Given the description of an element on the screen output the (x, y) to click on. 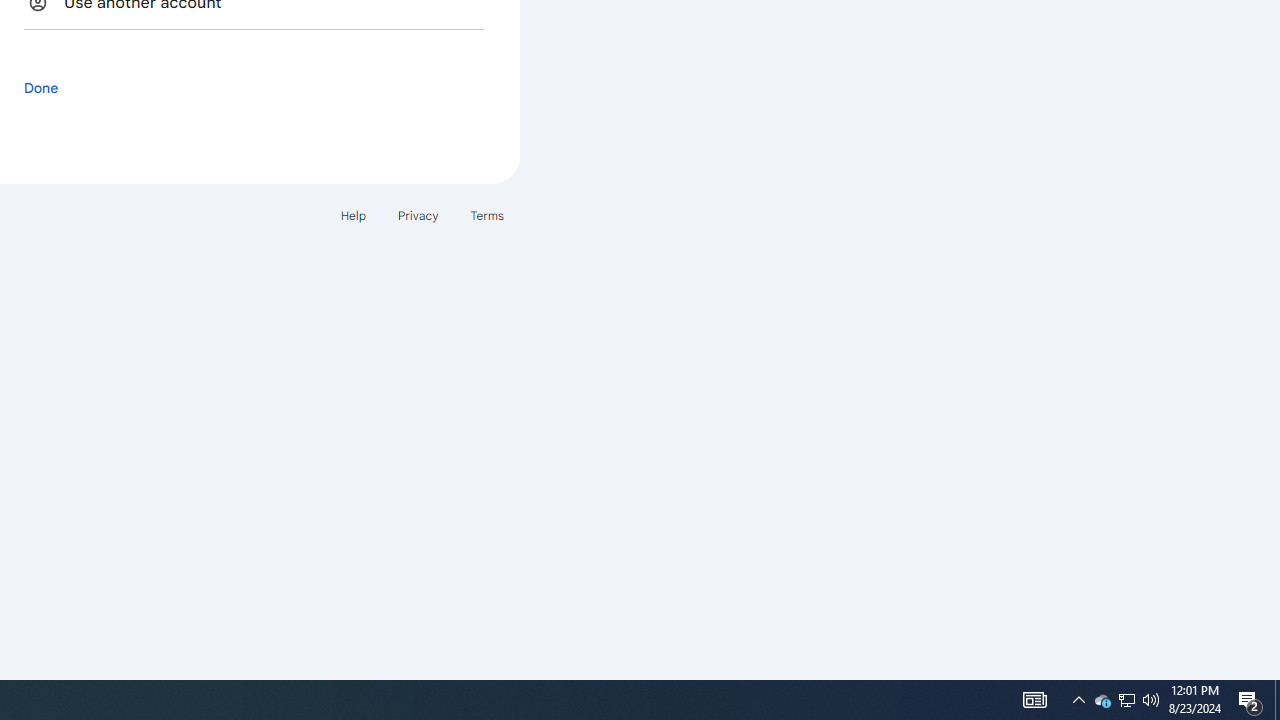
Done (41, 87)
